Given the description of an element on the screen output the (x, y) to click on. 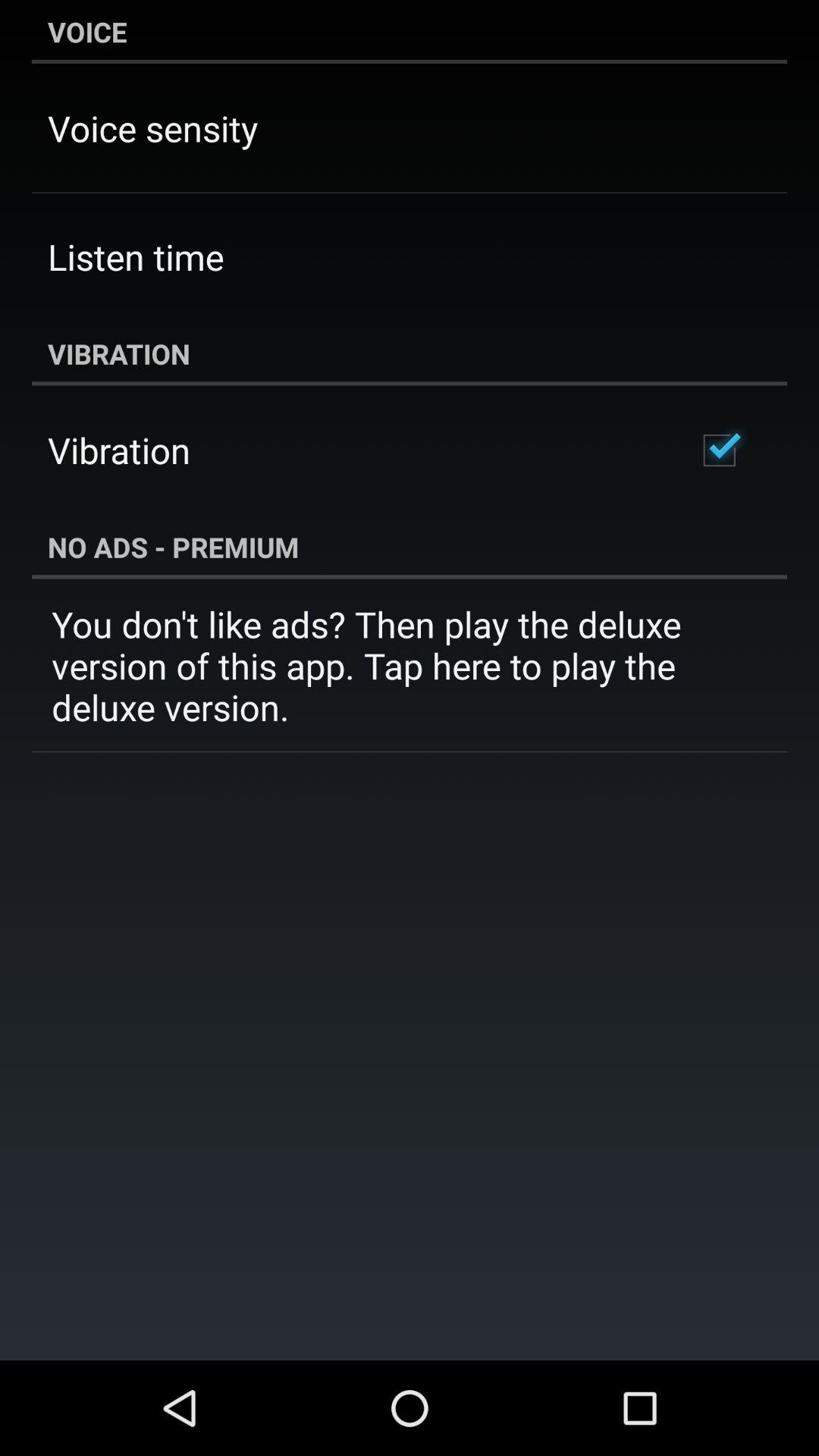
choose you don t item (409, 665)
